Given the description of an element on the screen output the (x, y) to click on. 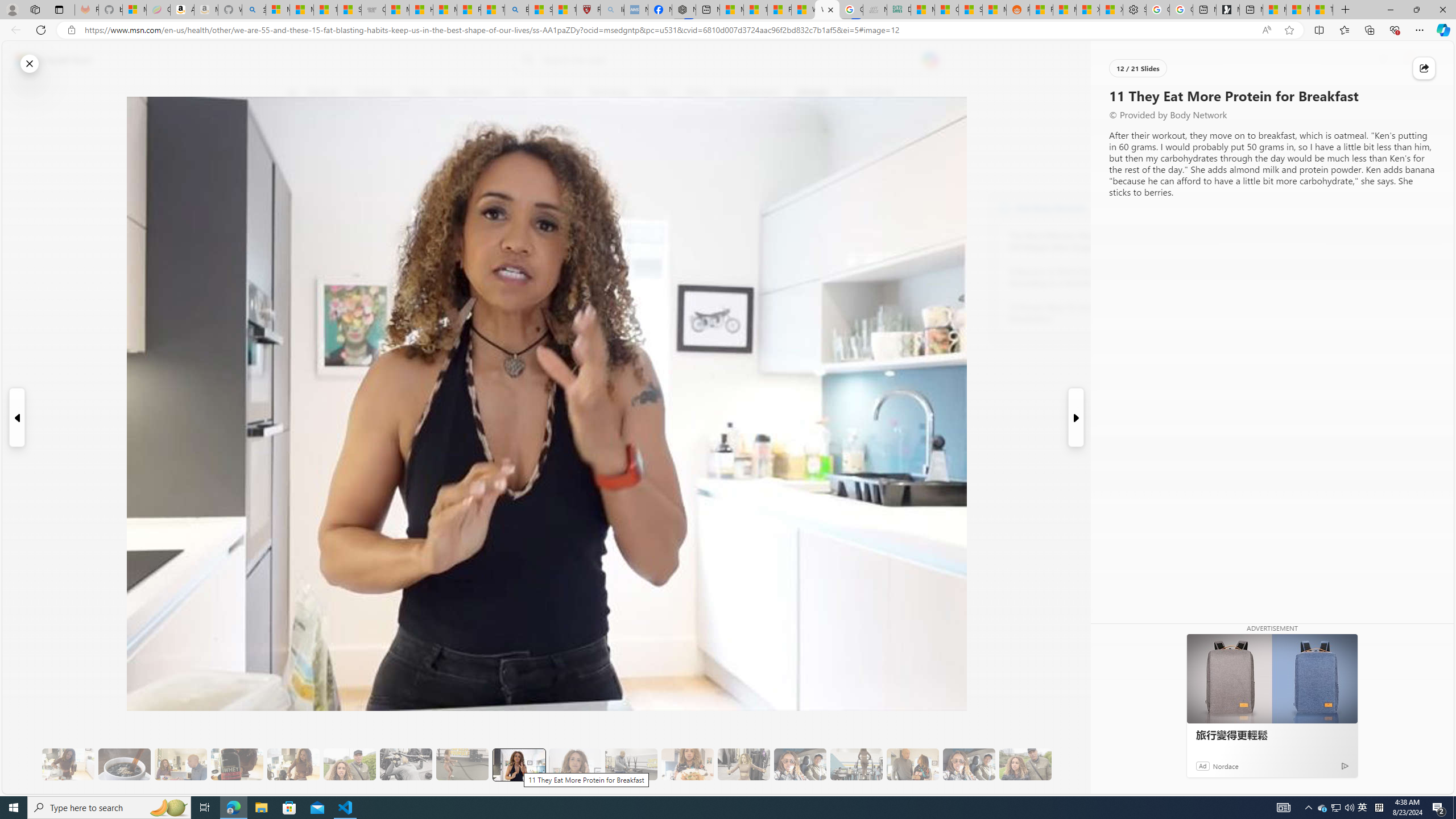
6 Since Eating More Protein Her Training Has Improved (237, 764)
Stocks - MSN (970, 9)
Enter your search term (730, 59)
Personalize (1132, 92)
Open navigation menu (292, 92)
Robert H. Shmerling, MD - Harvard Health (588, 9)
8 They Walk to the Gym (349, 764)
